Given the description of an element on the screen output the (x, y) to click on. 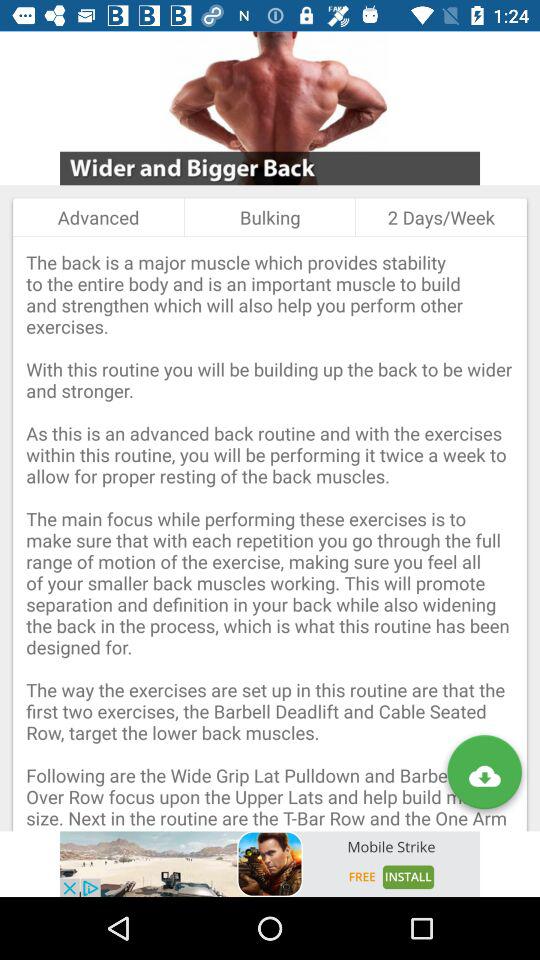
turn on 2 days/week (440, 217)
